Given the description of an element on the screen output the (x, y) to click on. 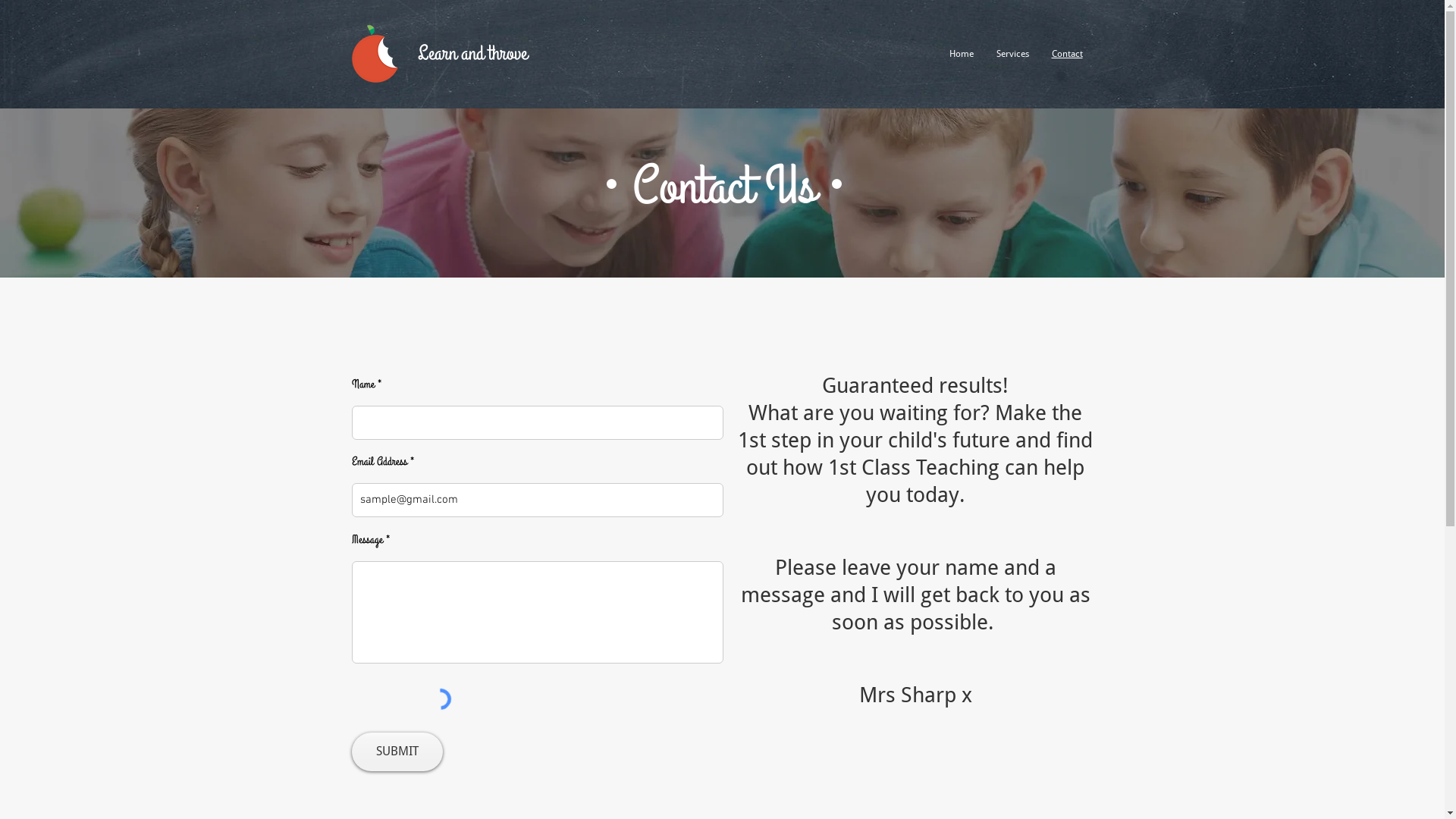
Services Element type: text (1011, 53)
Contact Element type: text (1067, 53)
Home Element type: text (960, 53)
SUBMIT Element type: text (396, 751)
